Given the description of an element on the screen output the (x, y) to click on. 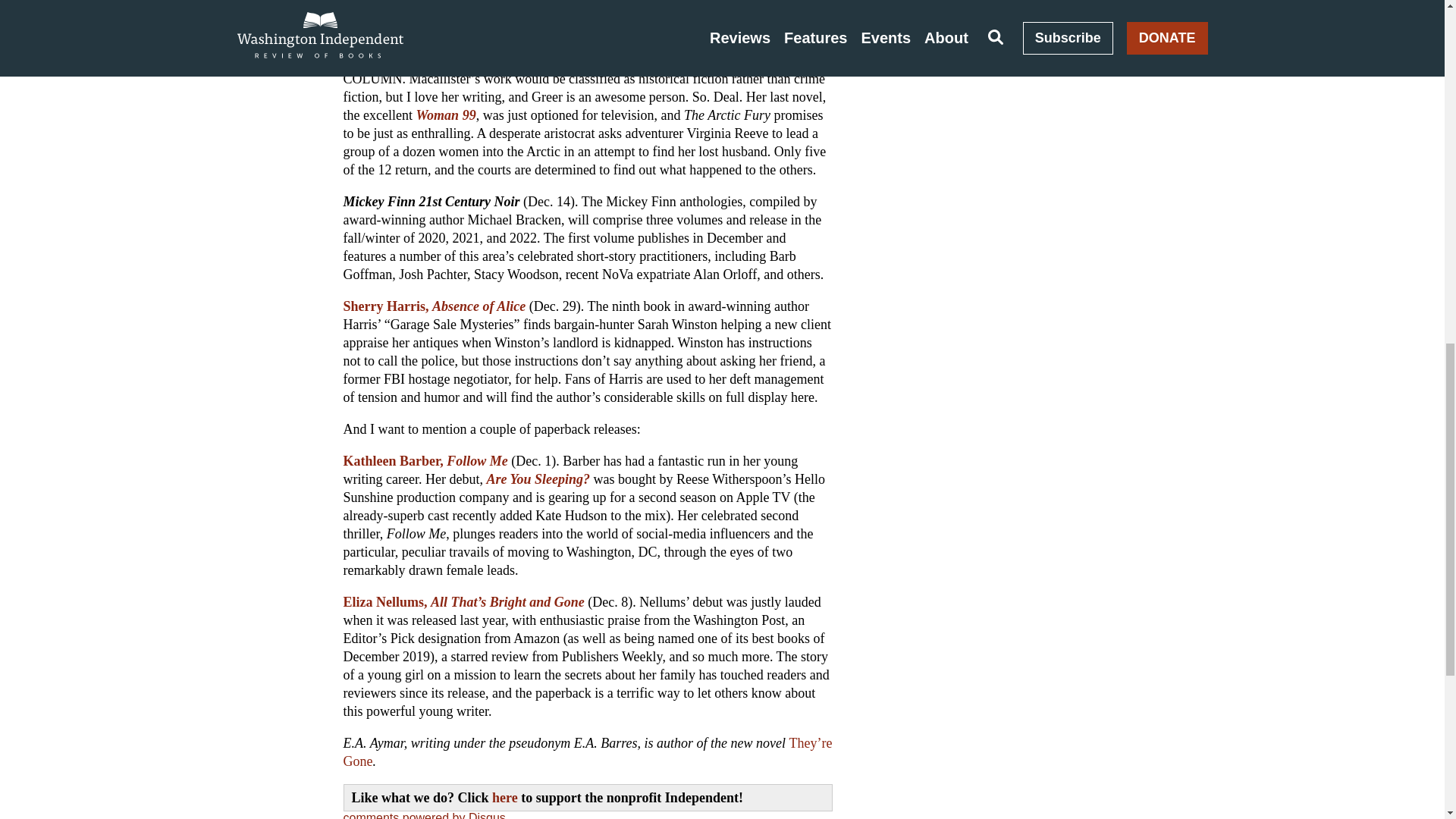
Greer Macallister, The Arctic Fury (441, 60)
Sherry Harris, Absence of Alice (433, 305)
comments powered by Disqus (423, 815)
Kathleen Barber, Follow Me (424, 460)
Are You Sleeping? (537, 478)
Woman 99 (445, 114)
here (505, 797)
